Given the description of an element on the screen output the (x, y) to click on. 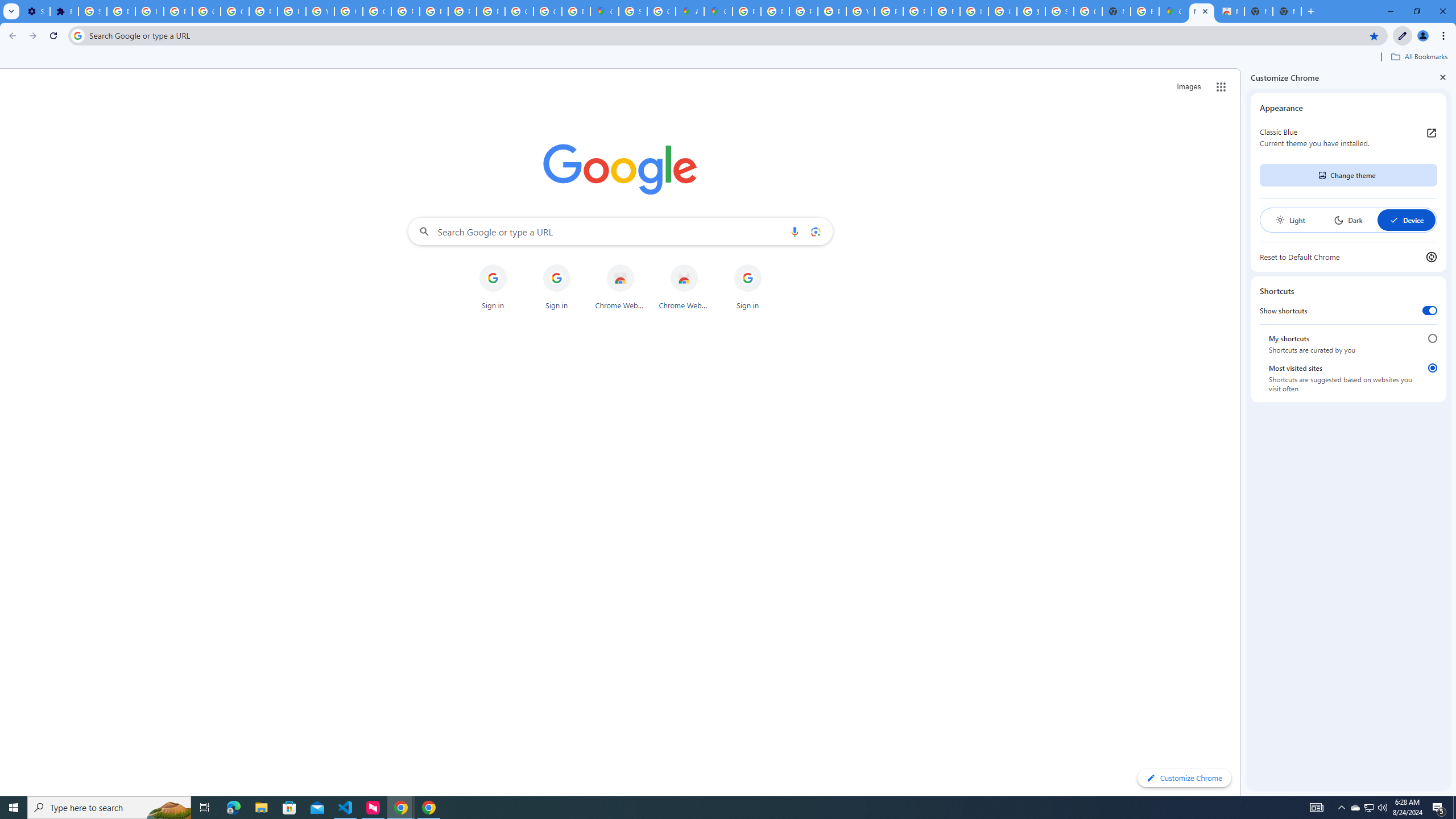
YouTube (320, 11)
New Tab (1201, 11)
Learn how to find your photos - Google Photos Help (148, 11)
AutomationID: baseSvg (1394, 219)
Extensions (63, 11)
Google Maps (604, 11)
Google Account Help (234, 11)
Sign in - Google Accounts (92, 11)
Show shortcuts (1429, 310)
